Given the description of an element on the screen output the (x, y) to click on. 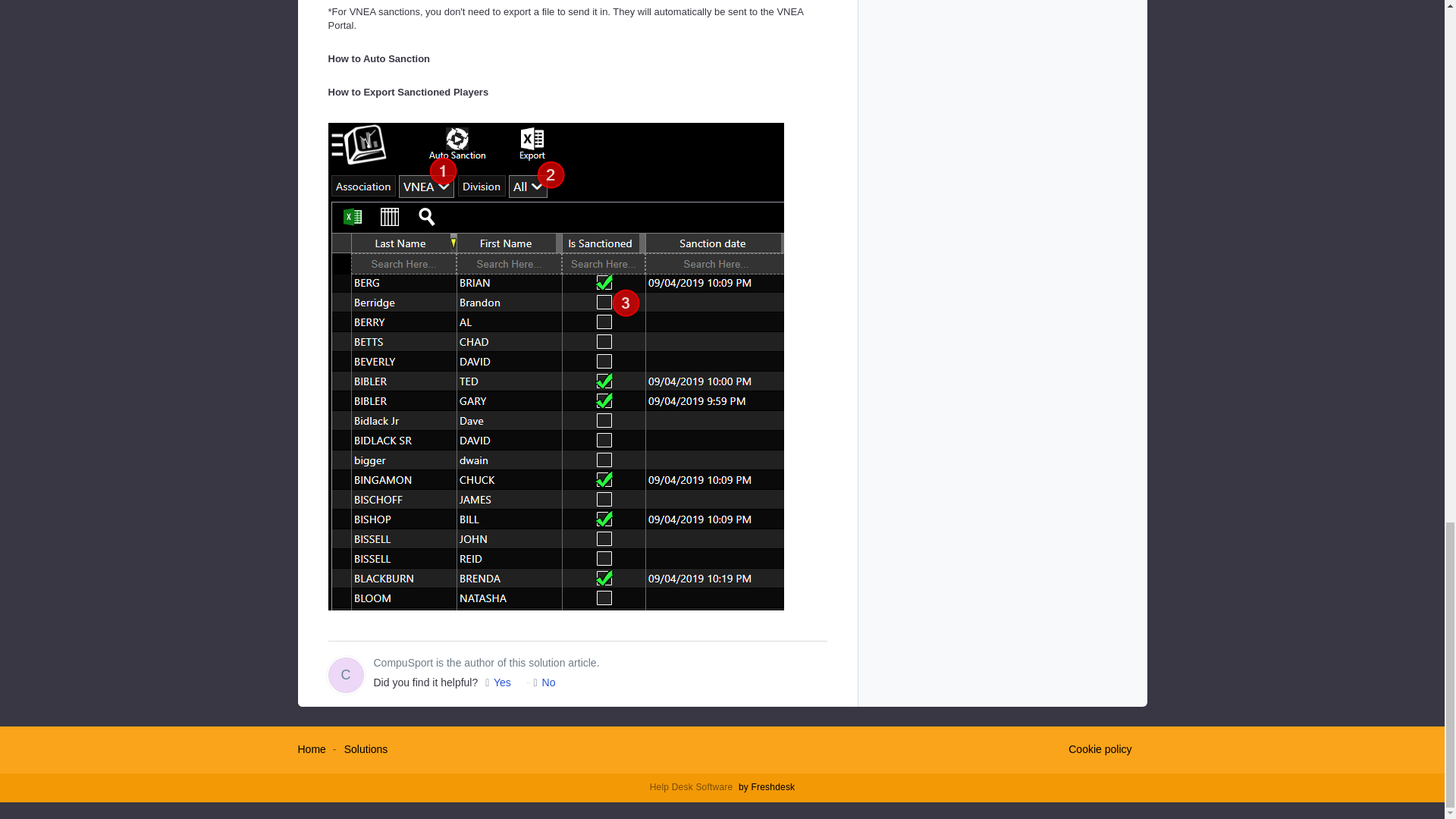
Why we love Cookies (1099, 750)
Help Desk Software (693, 787)
Solutions (365, 748)
Home (310, 748)
How to Auto Sanction (378, 58)
Cookie policy (1099, 750)
How to Export Sanctioned Players (407, 91)
